Given the description of an element on the screen output the (x, y) to click on. 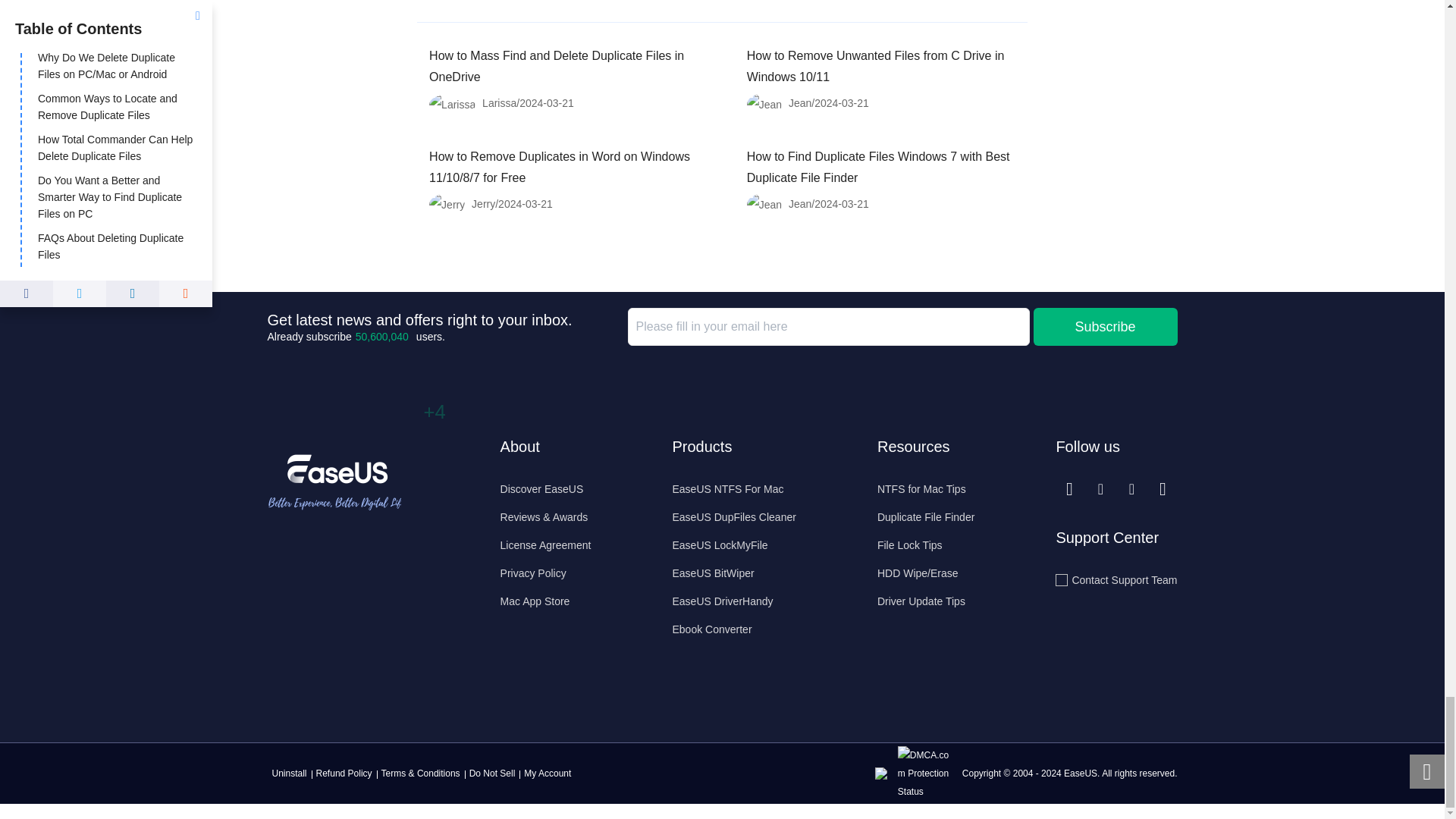
How to Mass Find and Delete Duplicate Files in OneDrive (556, 66)
Discover EaseUS (545, 488)
DMCA.com Protection Status (928, 772)
Customer reviews powered by Trustpilot (342, 620)
